Given the description of an element on the screen output the (x, y) to click on. 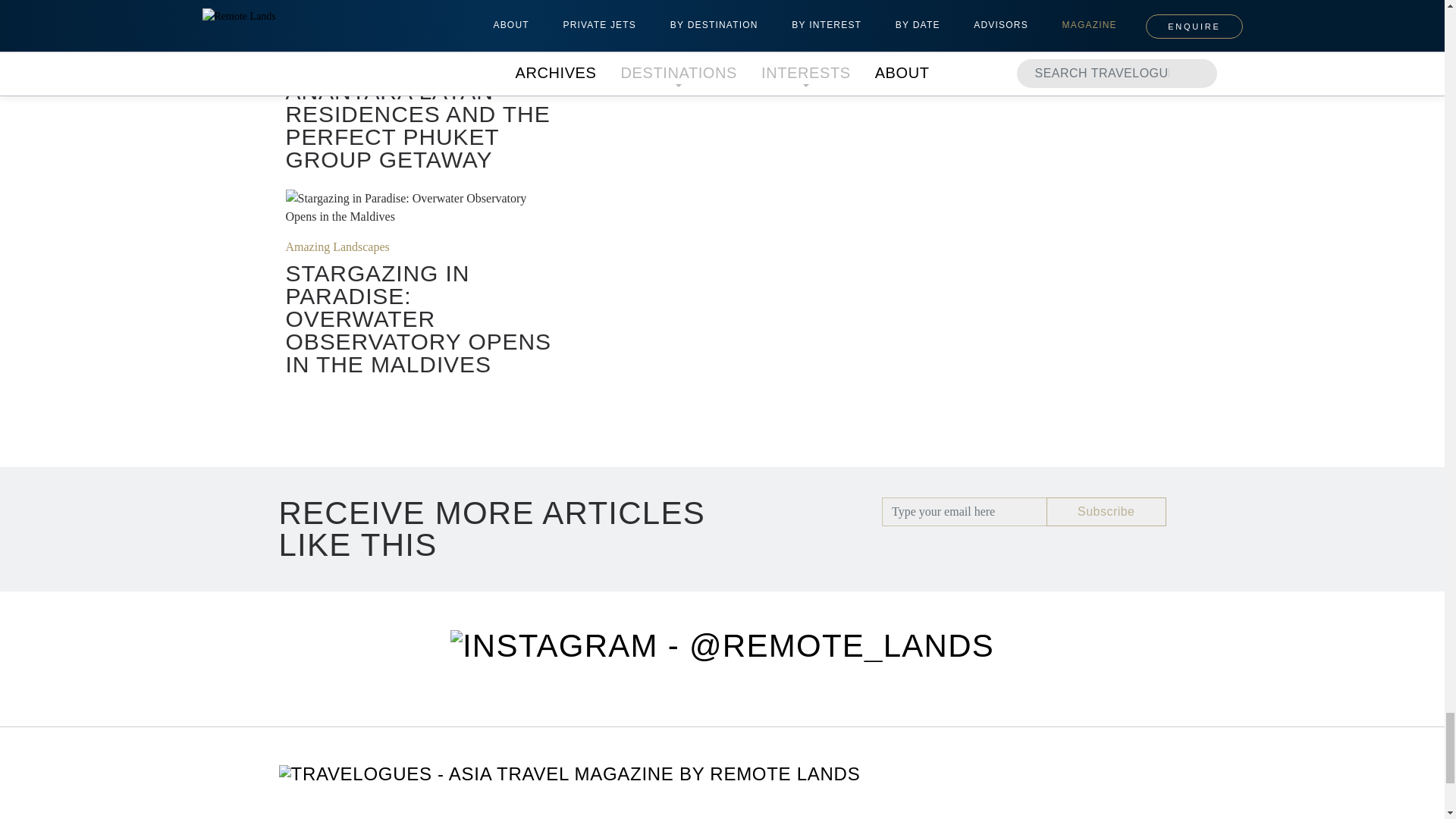
Subscribe (1106, 511)
